Given the description of an element on the screen output the (x, y) to click on. 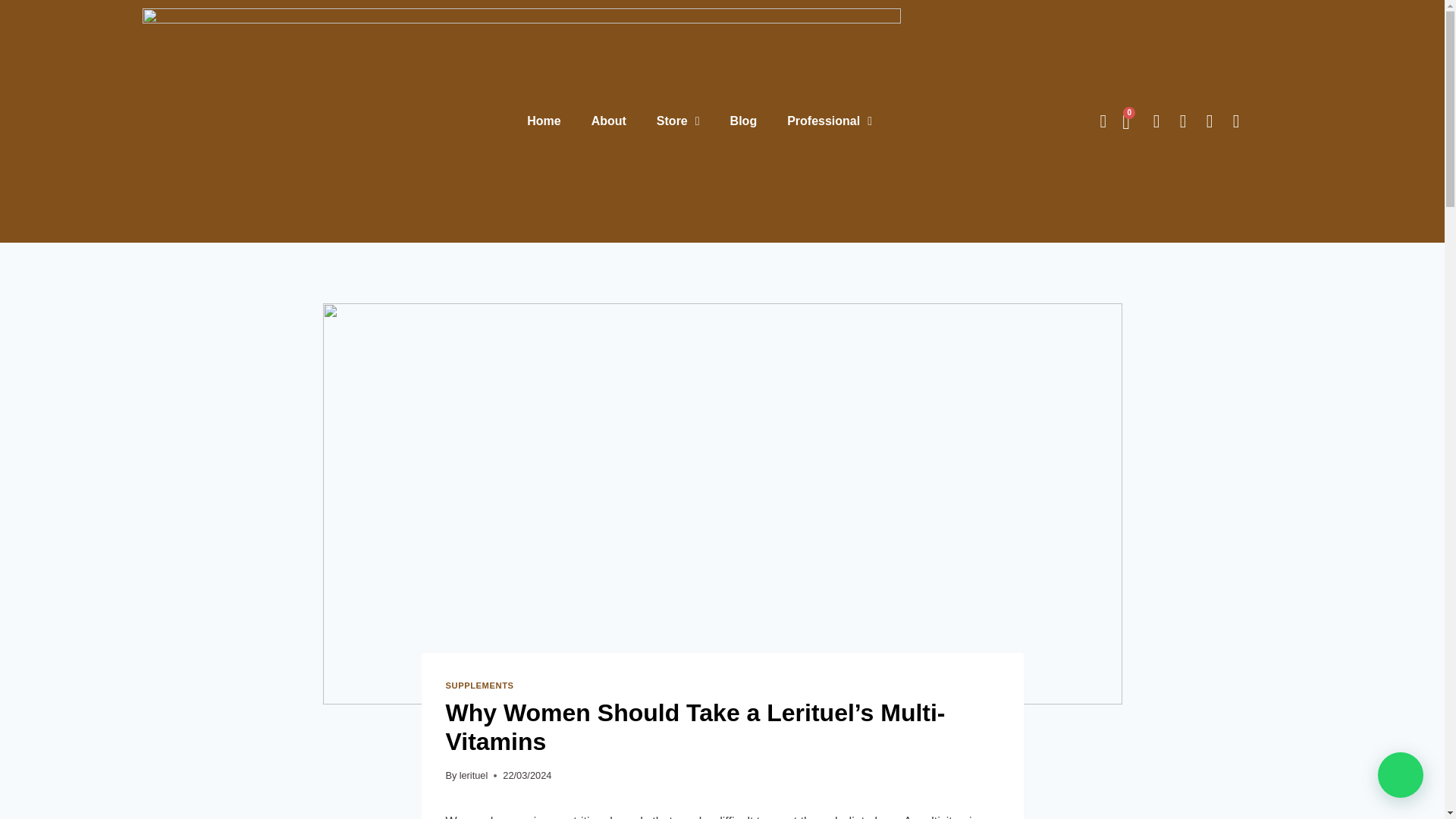
Home (543, 121)
Professional (828, 121)
About (609, 121)
0 (1125, 121)
Store (678, 121)
Blog (743, 121)
